Given the description of an element on the screen output the (x, y) to click on. 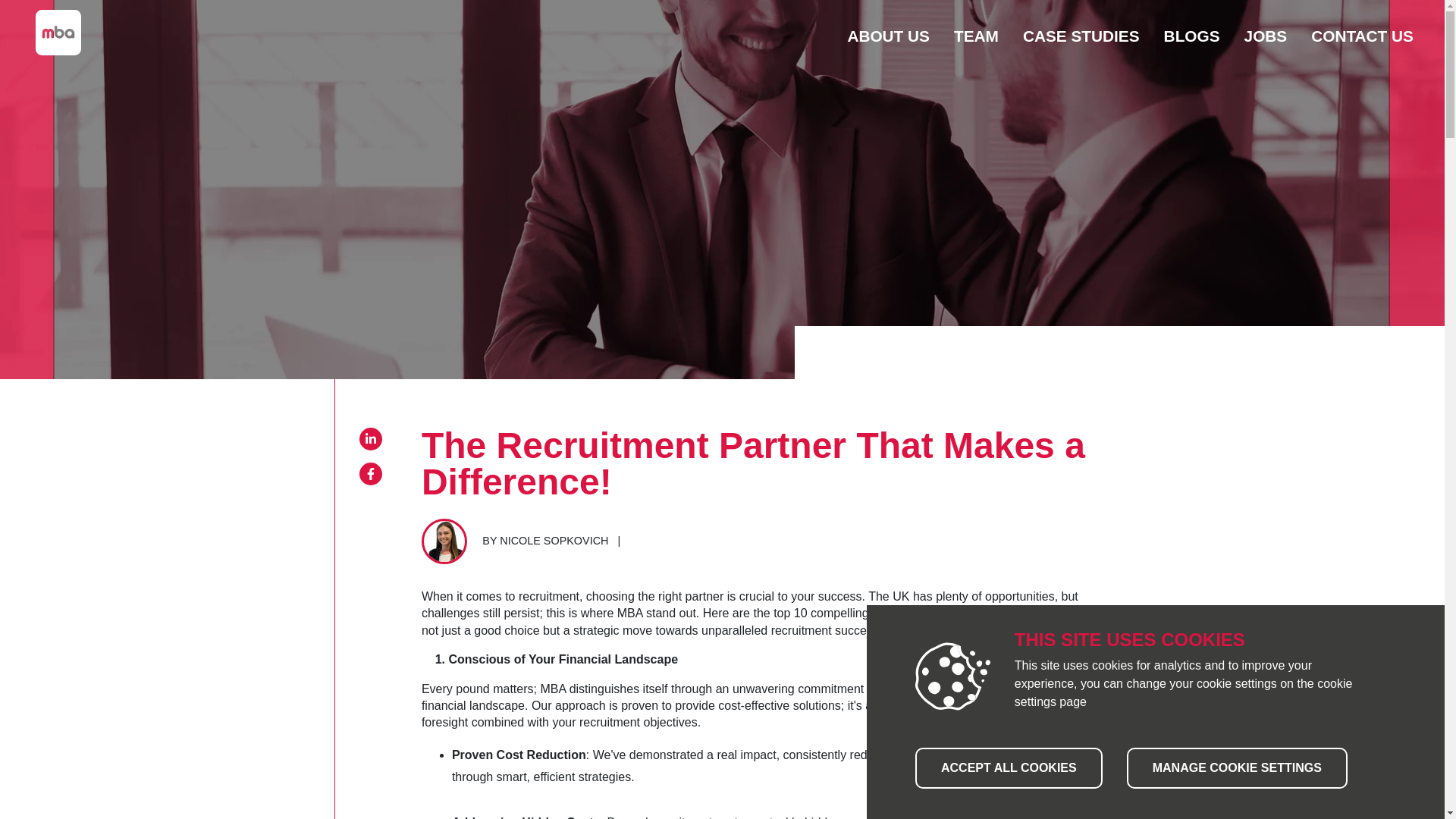
TEAM (975, 36)
ACCEPT ALL COOKIES (1008, 767)
CASE STUDIES (1080, 36)
MANAGE COOKIE SETTINGS (1237, 767)
ABOUT US (888, 36)
JOBS (1266, 36)
CONTACT US (1361, 36)
BLOGS (1191, 36)
